Given the description of an element on the screen output the (x, y) to click on. 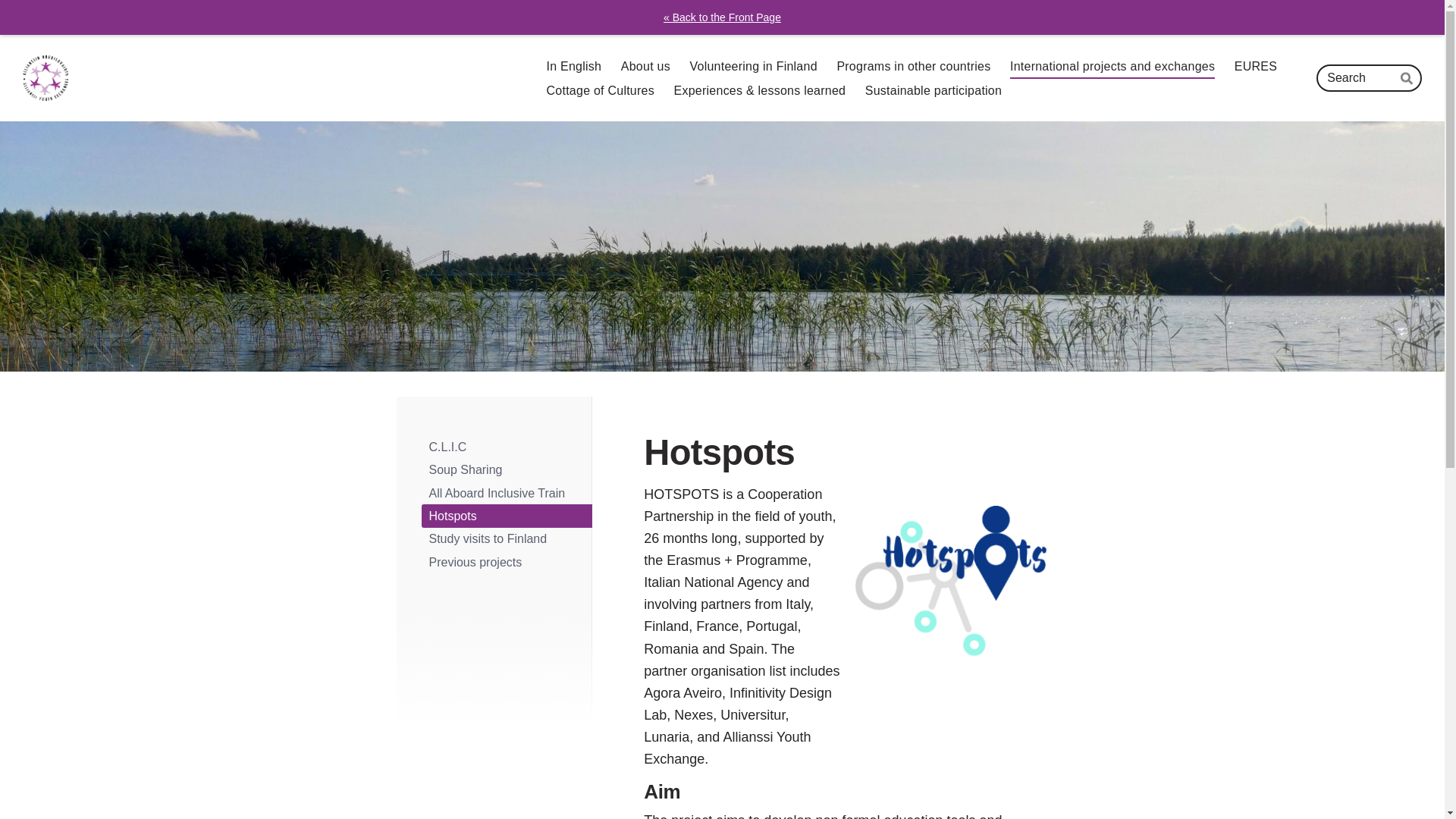
Volunteering in Finland (752, 66)
Skip to content (7, 7)
In English (574, 66)
Programs in other countries (912, 66)
Allianssin Nuorisovaihto (45, 77)
About us (645, 66)
International projects and exchanges (1112, 66)
